Given the description of an element on the screen output the (x, y) to click on. 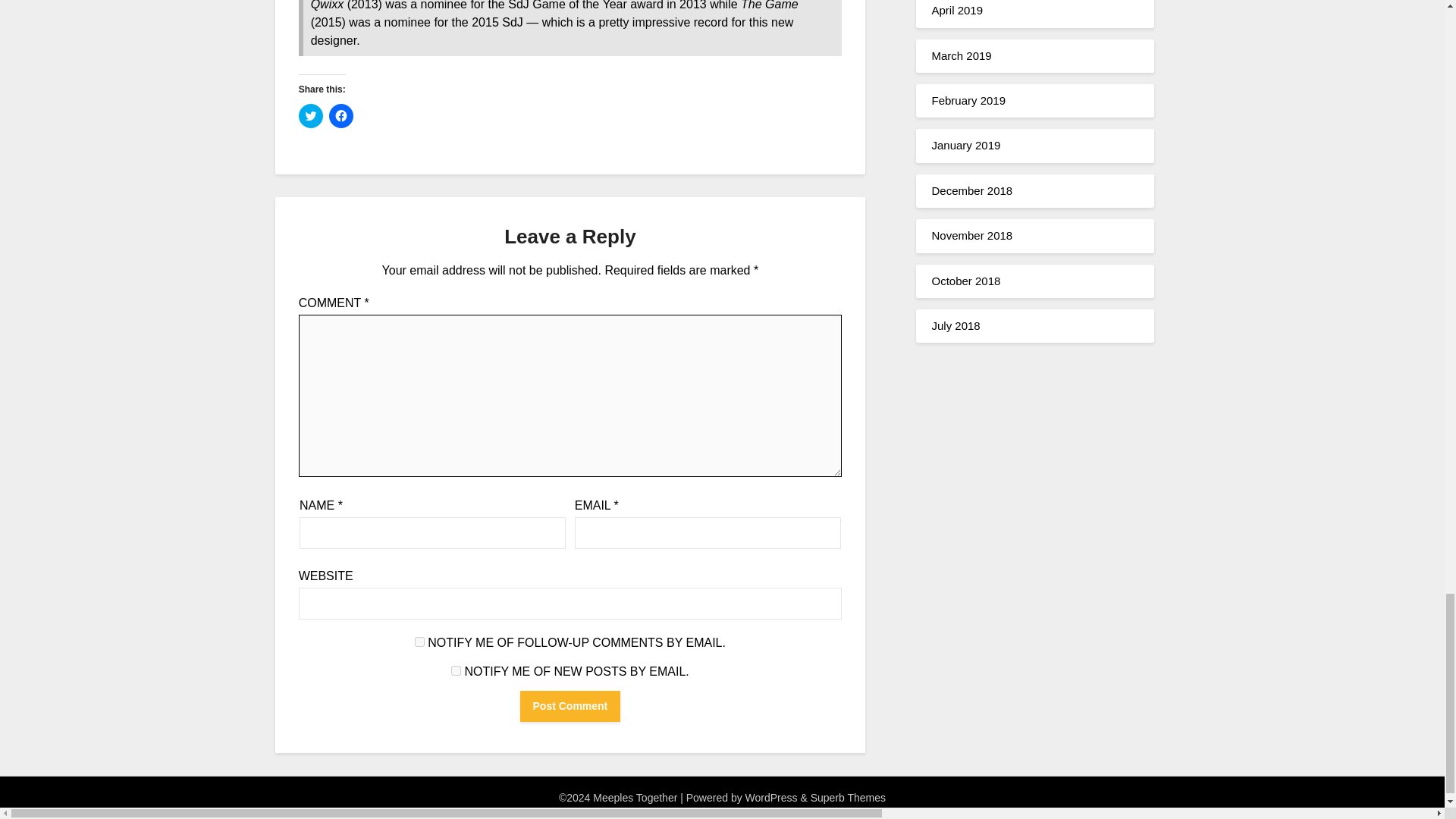
Click to share on Twitter (310, 115)
subscribe (419, 642)
Click to share on Facebook (341, 115)
Post Comment (570, 706)
subscribe (456, 670)
Post Comment (570, 706)
